Given the description of an element on the screen output the (x, y) to click on. 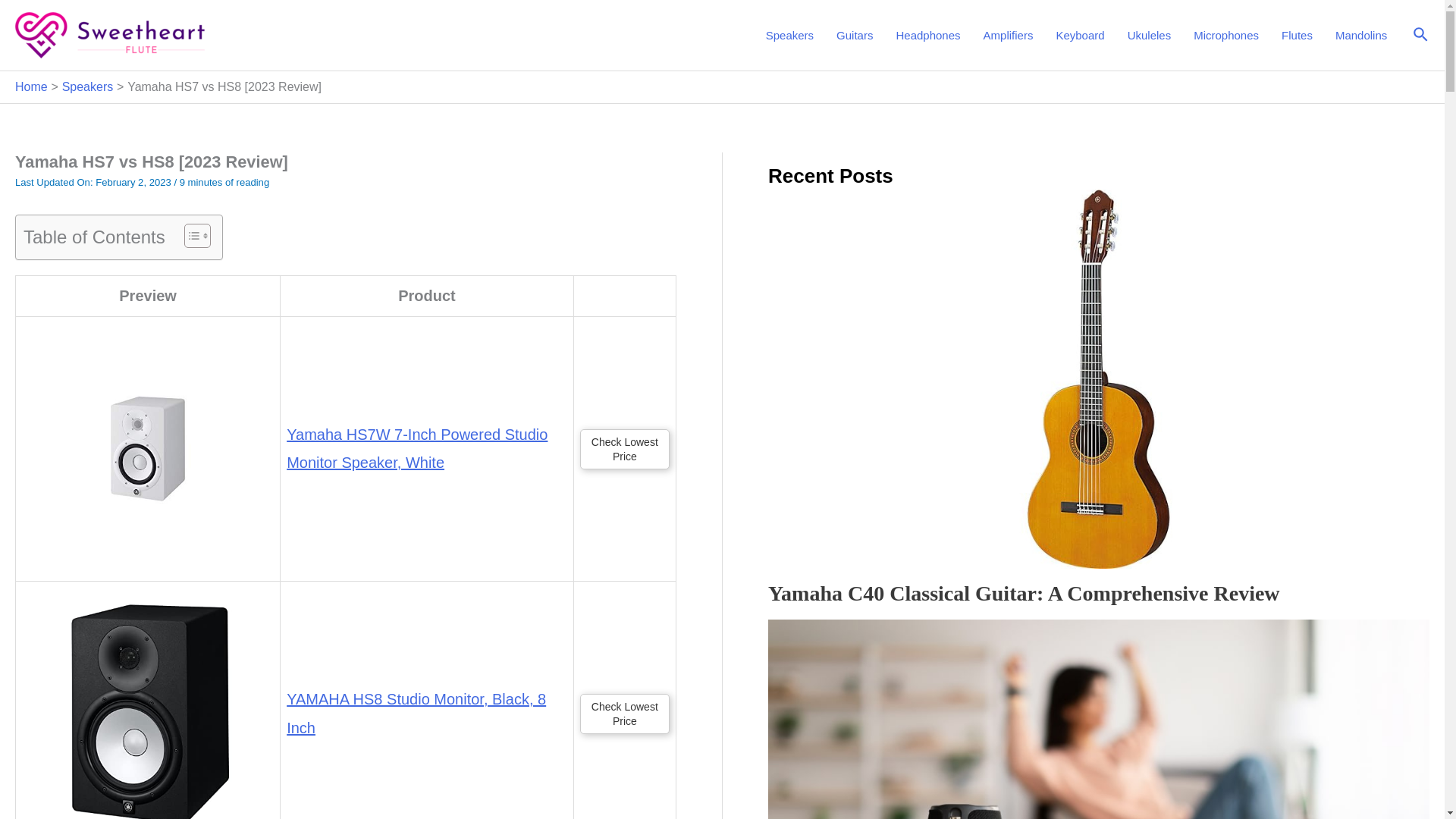
YAMAHA HS8 Studio Monitor, Black, 8 Inch (147, 703)
Microphones (1225, 35)
Check Lowest Price (624, 713)
Amplifiers (1008, 35)
Speakers (789, 35)
Guitars (854, 35)
Ukuleles (1149, 35)
Keyboard (1079, 35)
Headphones (927, 35)
YAMAHA HS8 Studio Monitor, Black, 8 Inch (416, 713)
